Given the description of an element on the screen output the (x, y) to click on. 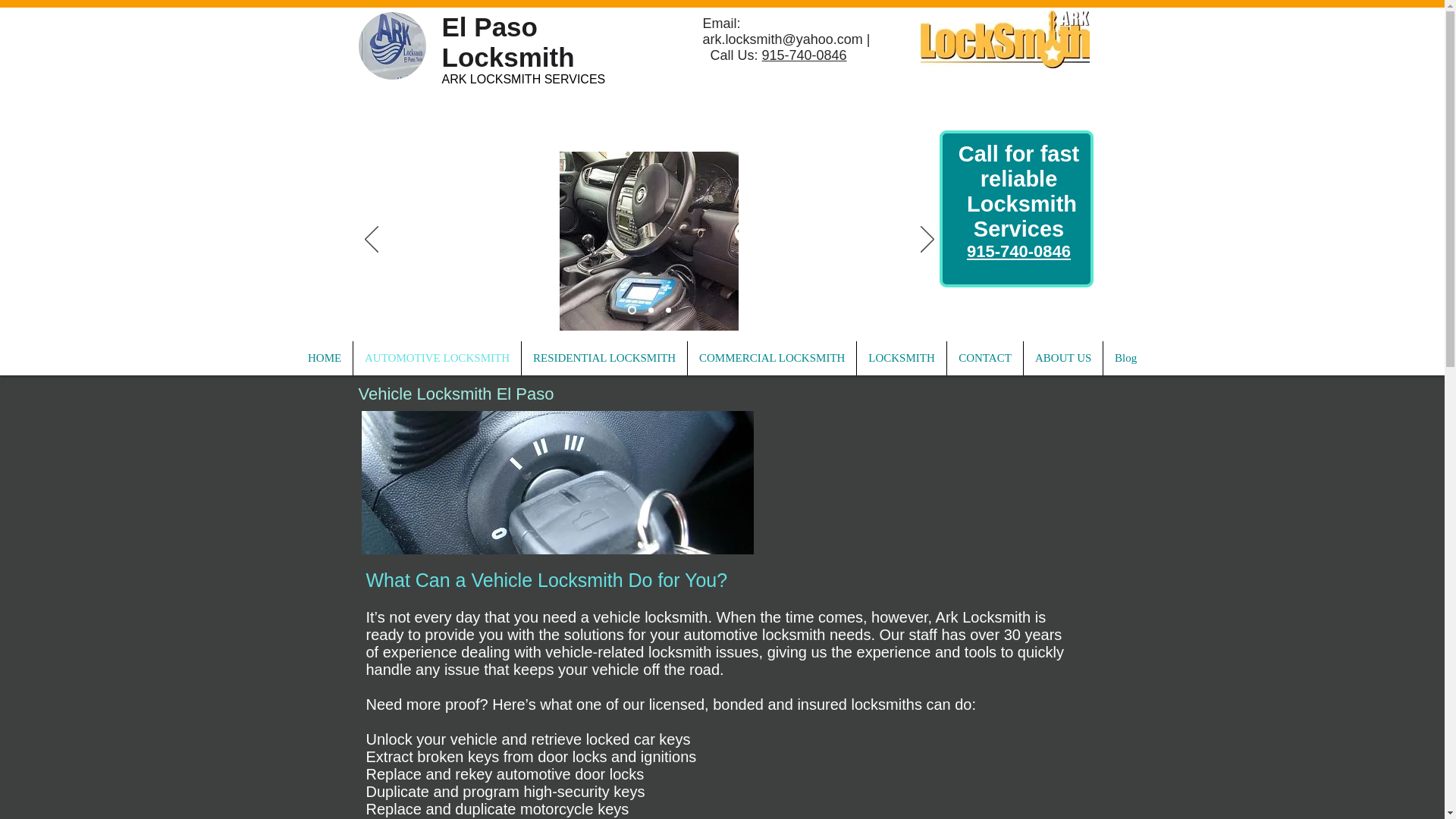
El Paso Locksmith (507, 42)
RESIDENTIAL LOCKSMITH (604, 358)
915-740-0846 (804, 55)
LOCKSMITH (901, 358)
915-740-0846 (1018, 251)
Blog (1125, 358)
COMMERCIAL LOCKSMITH (771, 358)
CONTACT (985, 358)
ABOUT US (1062, 358)
HOME (324, 358)
AUTOMOTIVE LOCKSMITH (437, 358)
